Given the description of an element on the screen output the (x, y) to click on. 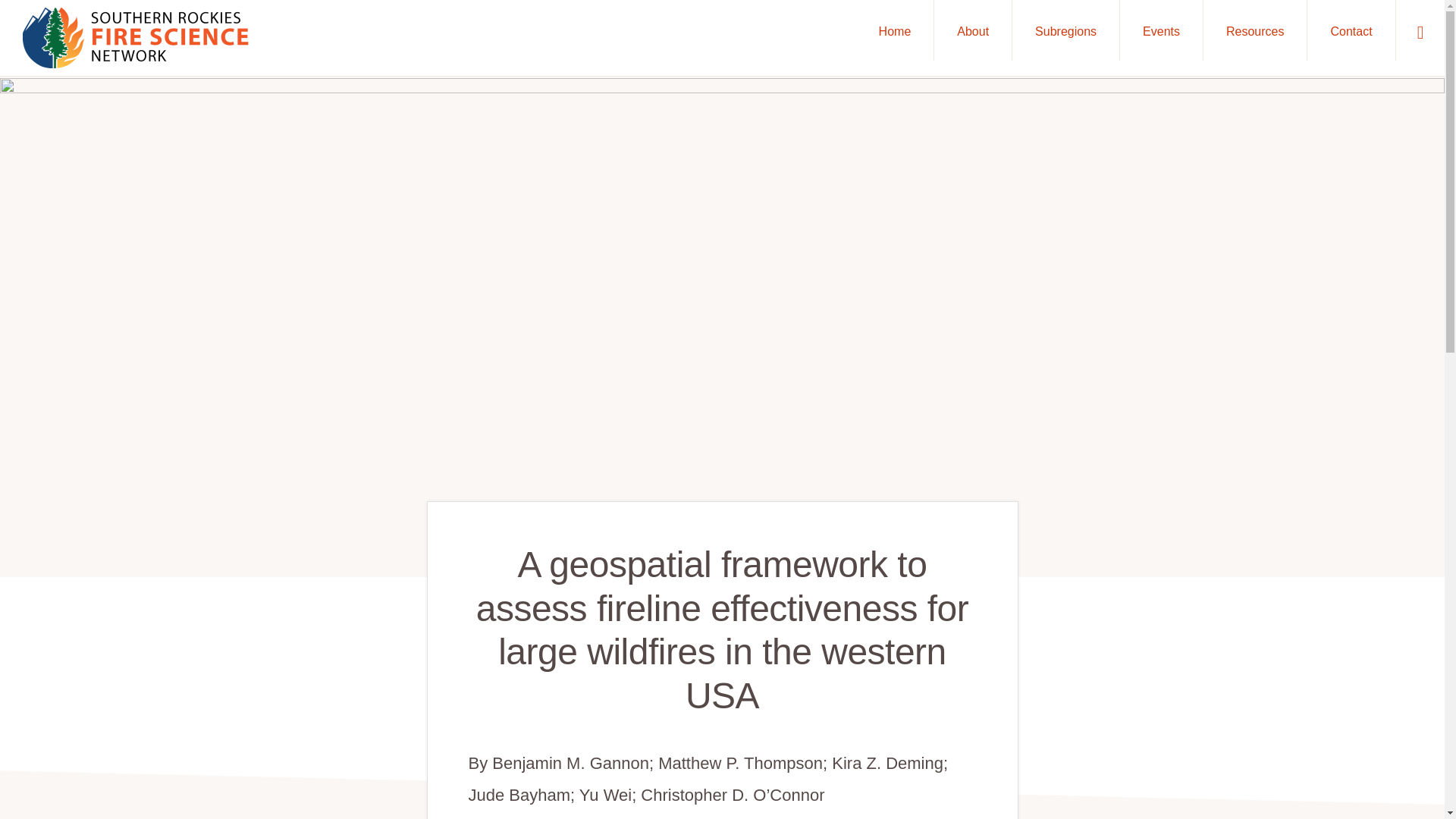
Resources (1255, 30)
our newsletter (348, 631)
Contact (1350, 30)
Twitter (316, 606)
Home (895, 30)
Subregions (1065, 30)
About (972, 30)
YouTube (352, 606)
View resources from multiple exchanges. (640, 707)
